Given the description of an element on the screen output the (x, y) to click on. 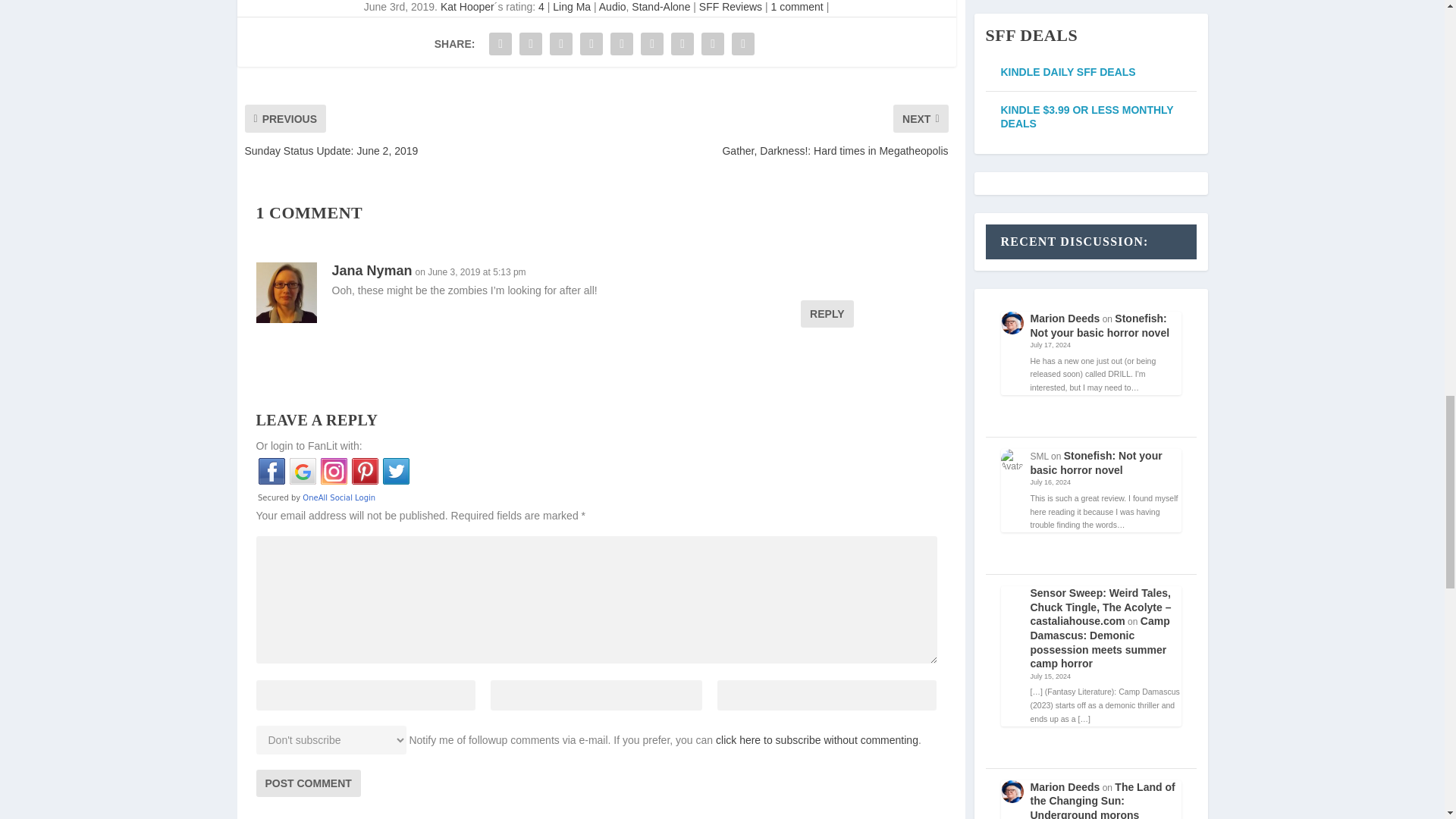
Posts by Kat Hooper (468, 6)
Post Comment (308, 782)
